Given the description of an element on the screen output the (x, y) to click on. 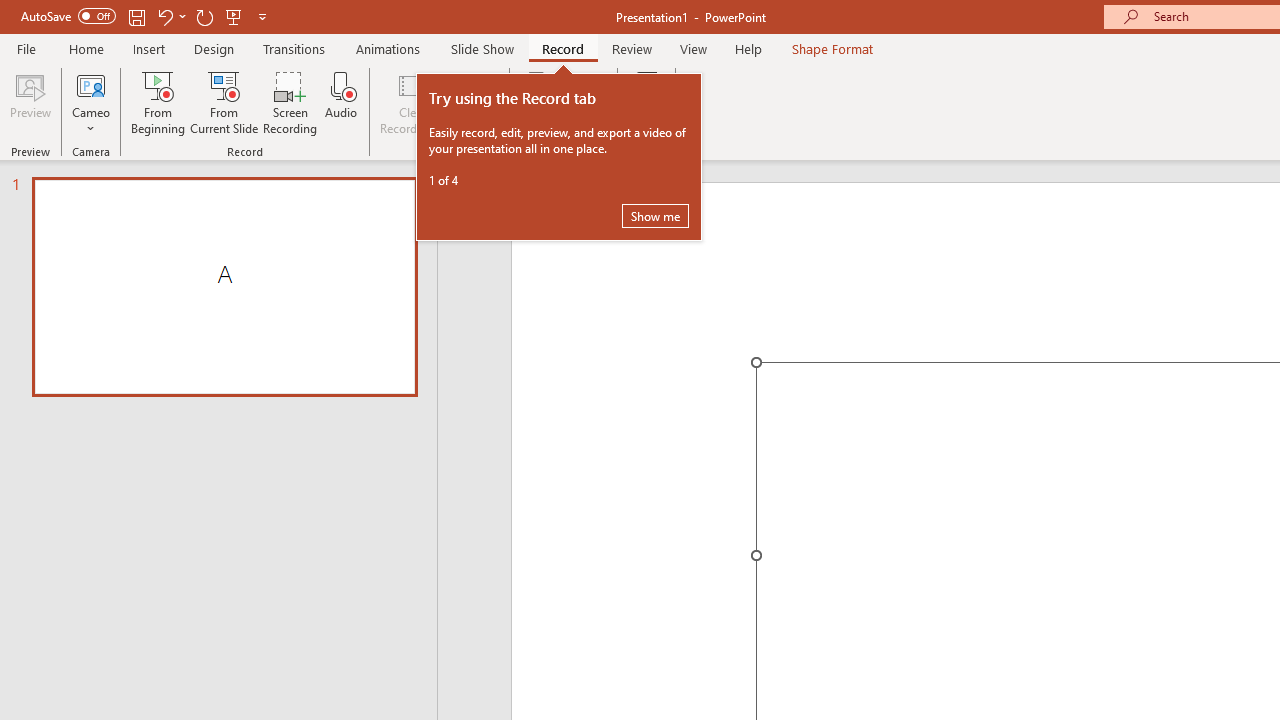
Screen Recording (290, 102)
Clear Recording (412, 102)
Learn More (646, 102)
Export to Video (585, 102)
